Given the description of an element on the screen output the (x, y) to click on. 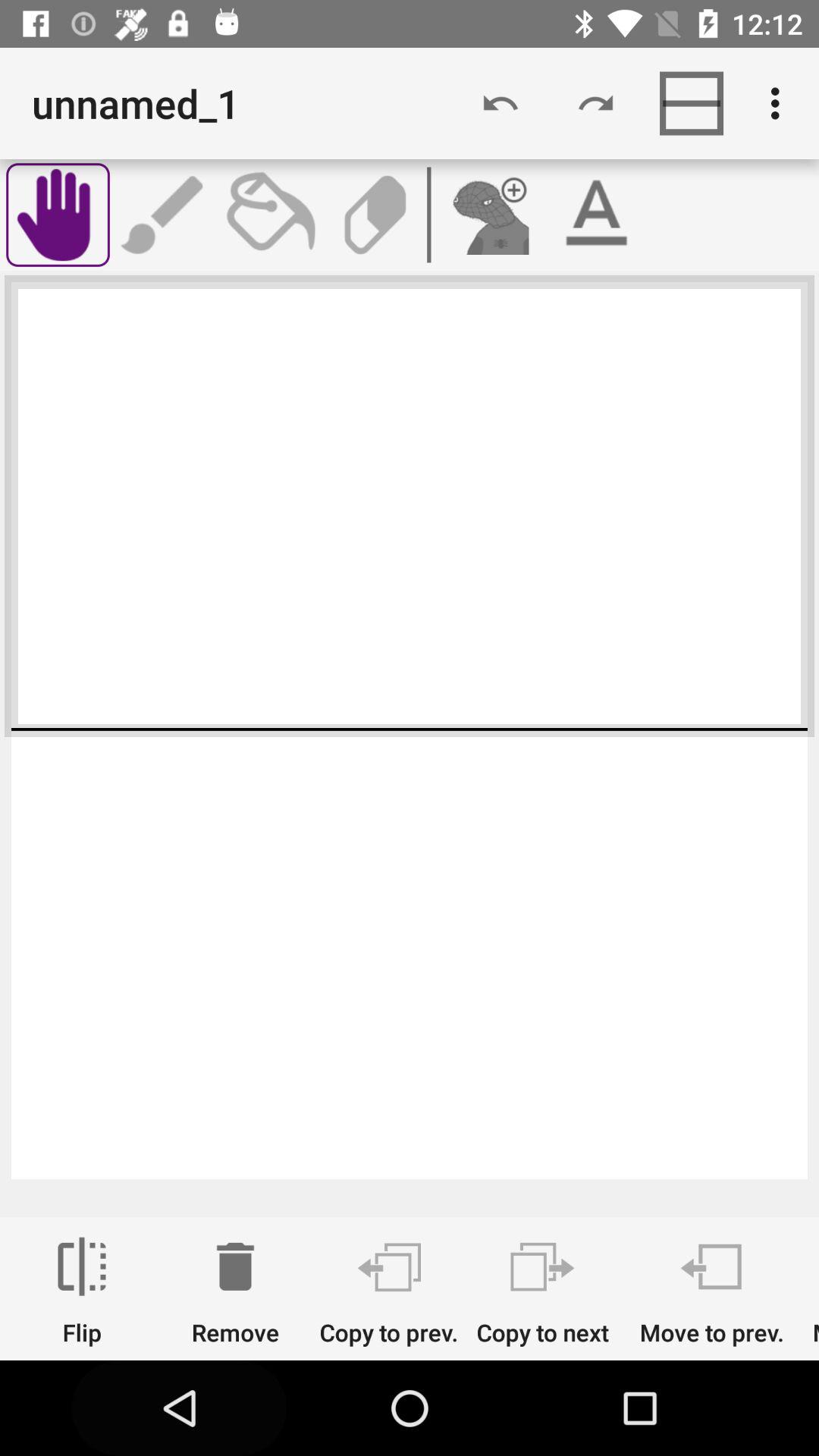
underline a word (596, 214)
